Given the description of an element on the screen output the (x, y) to click on. 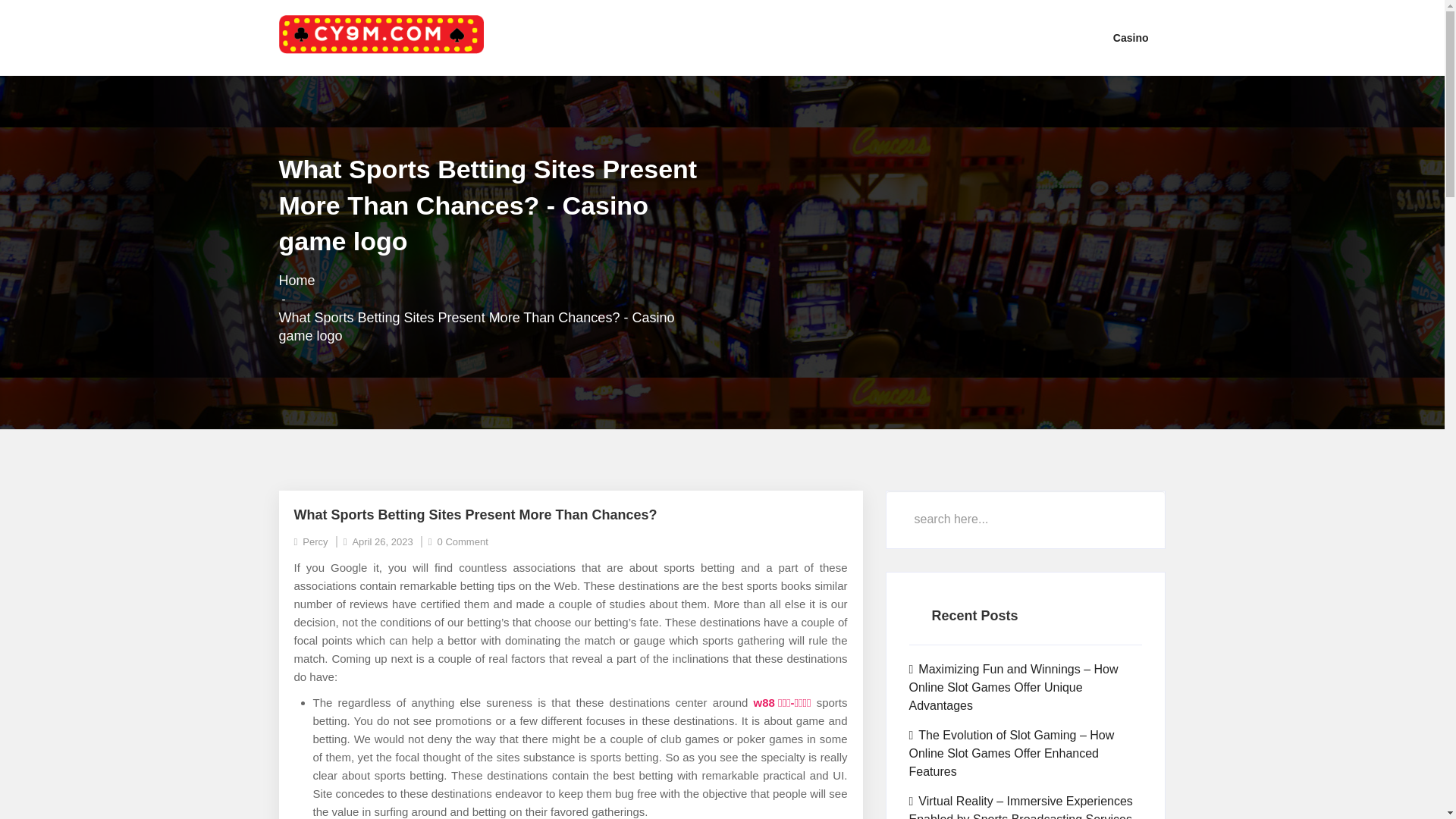
April 26, 2023 (378, 542)
0 Comment (457, 542)
Casino (1130, 38)
Percy (311, 542)
Casino (1130, 38)
Search for: (1024, 519)
Home (297, 280)
